Given the description of an element on the screen output the (x, y) to click on. 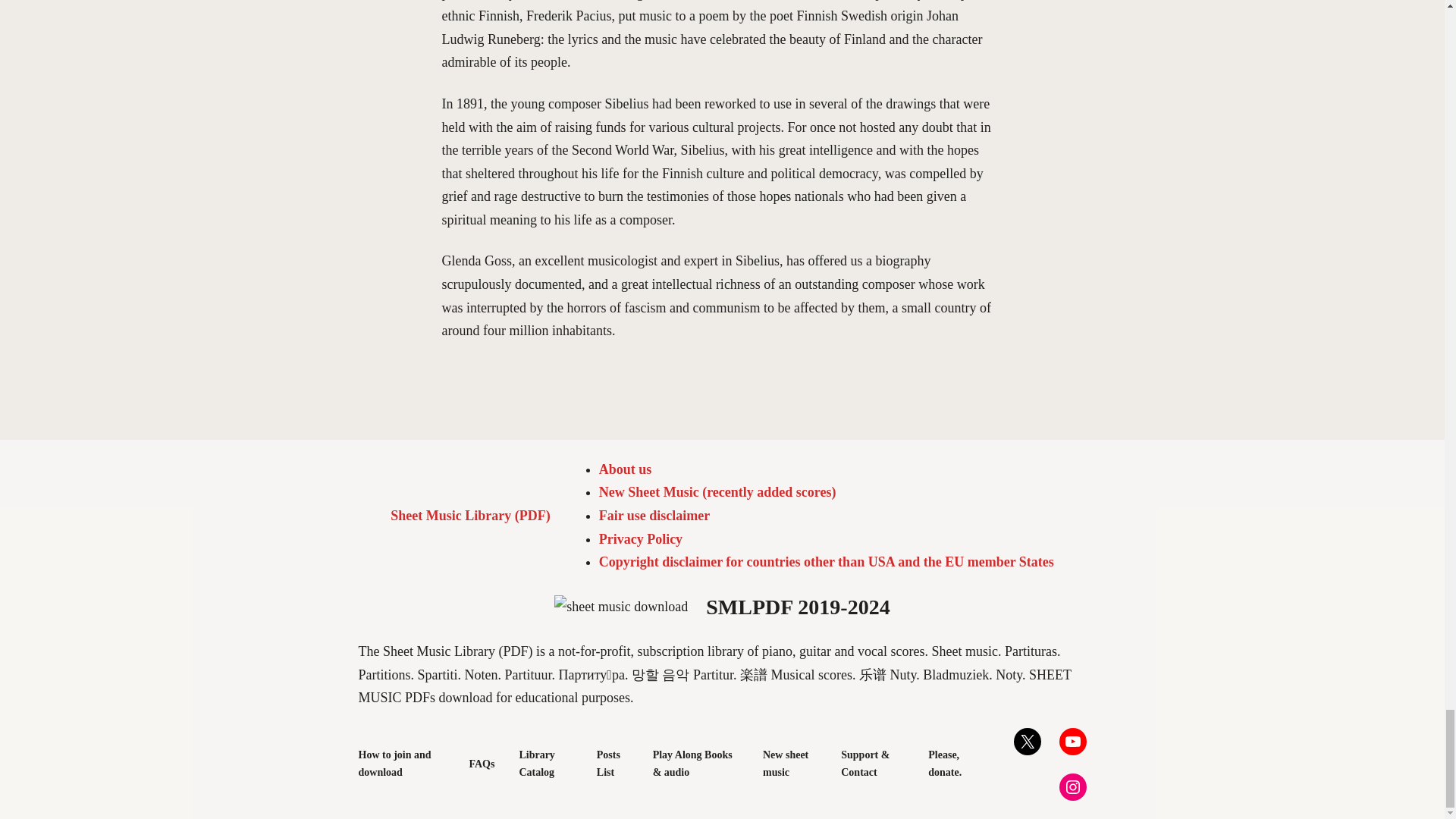
How to join and download (401, 763)
Library Catalog (545, 763)
Instagram (1072, 786)
Fair use disclaimer (654, 515)
Privacy Policy (640, 539)
New sheet music (789, 763)
Posts List (612, 763)
FAQs (481, 764)
YouTube (1072, 741)
